Given the description of an element on the screen output the (x, y) to click on. 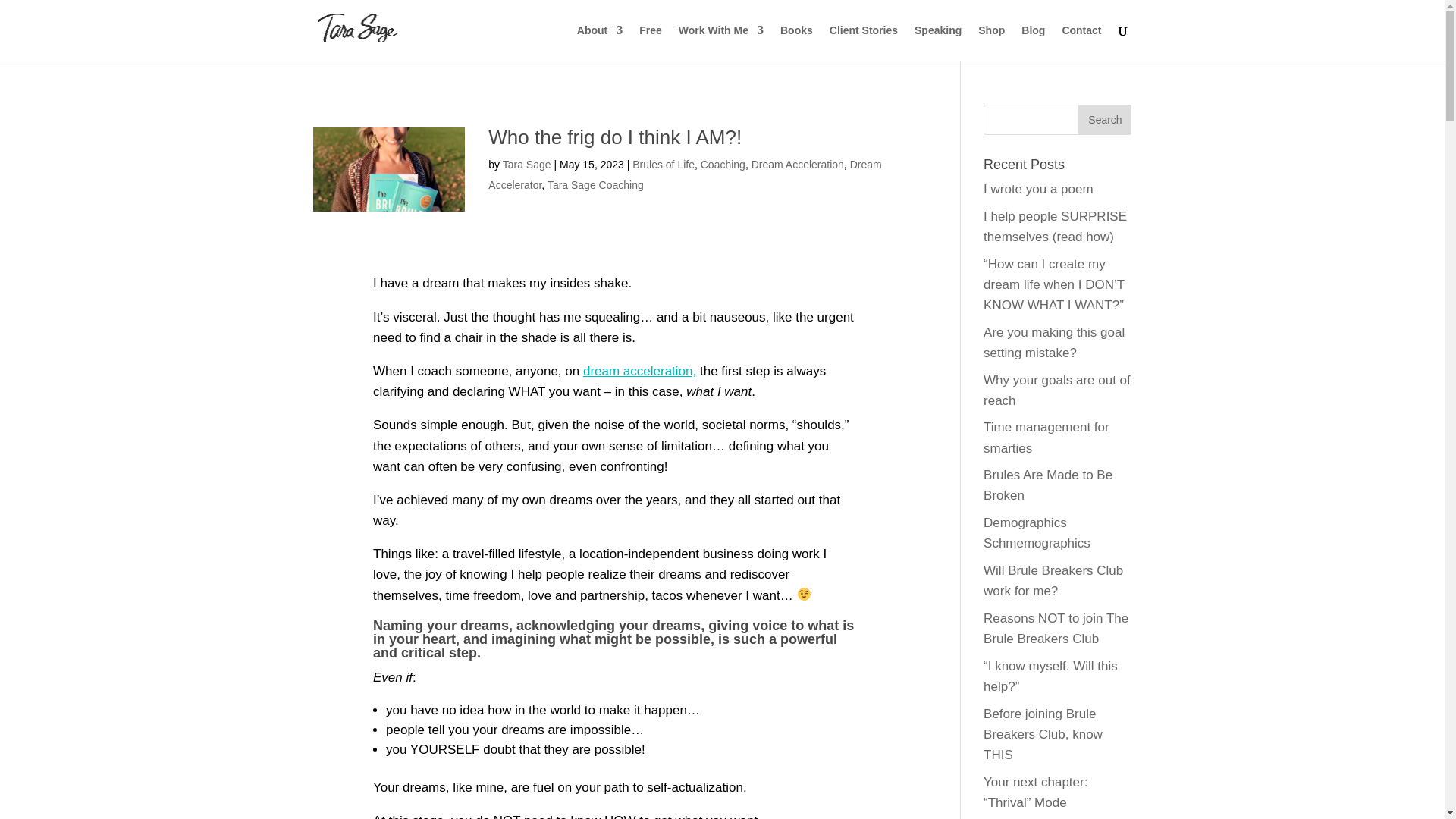
Books (796, 42)
Speaking (937, 42)
Posts by Tara Sage (526, 164)
Client Stories (863, 42)
Contact (1080, 42)
Search (1104, 119)
About (599, 42)
Work With Me (720, 42)
